Given the description of an element on the screen output the (x, y) to click on. 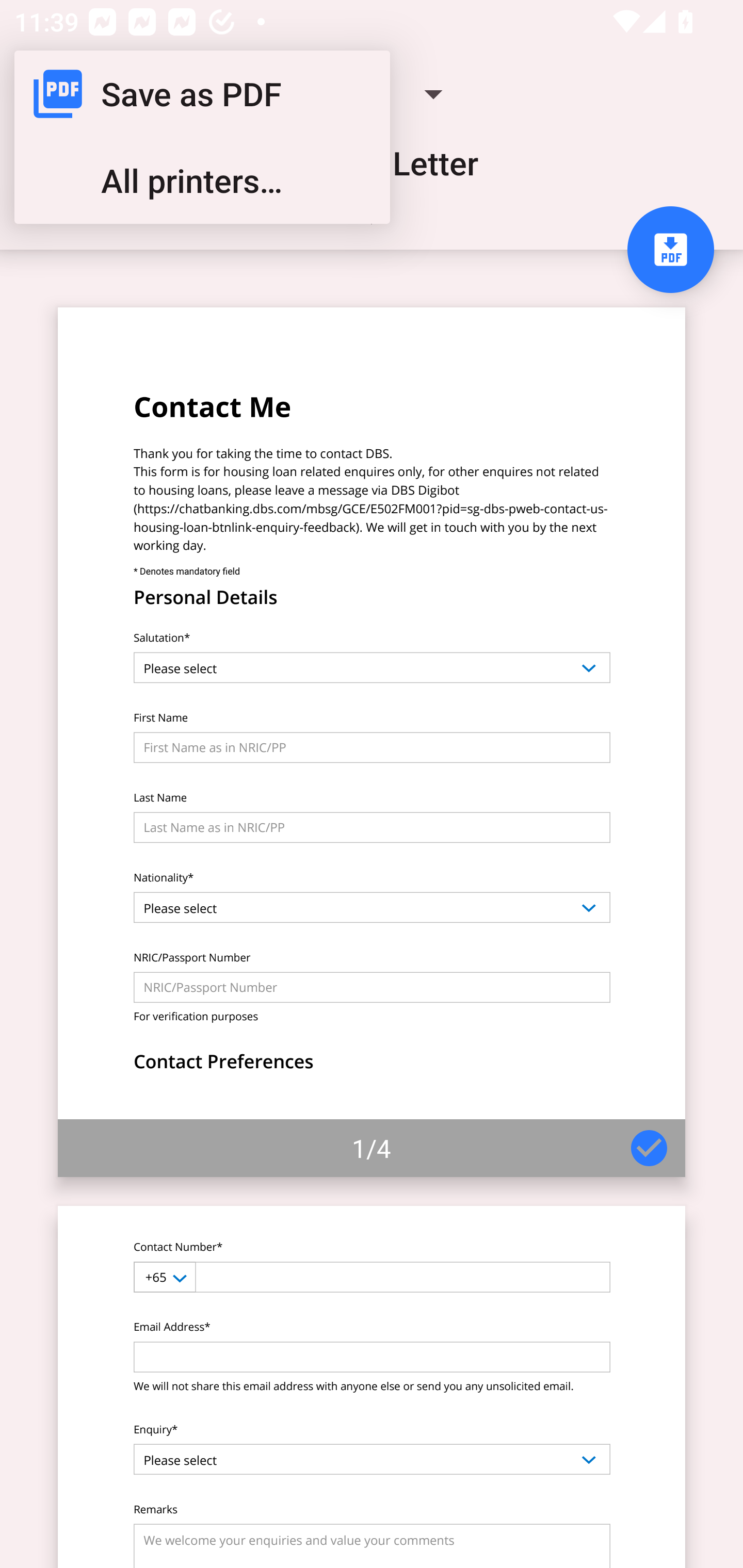
Save as PDF (202, 93)
All printers… (202, 180)
